Given the description of an element on the screen output the (x, y) to click on. 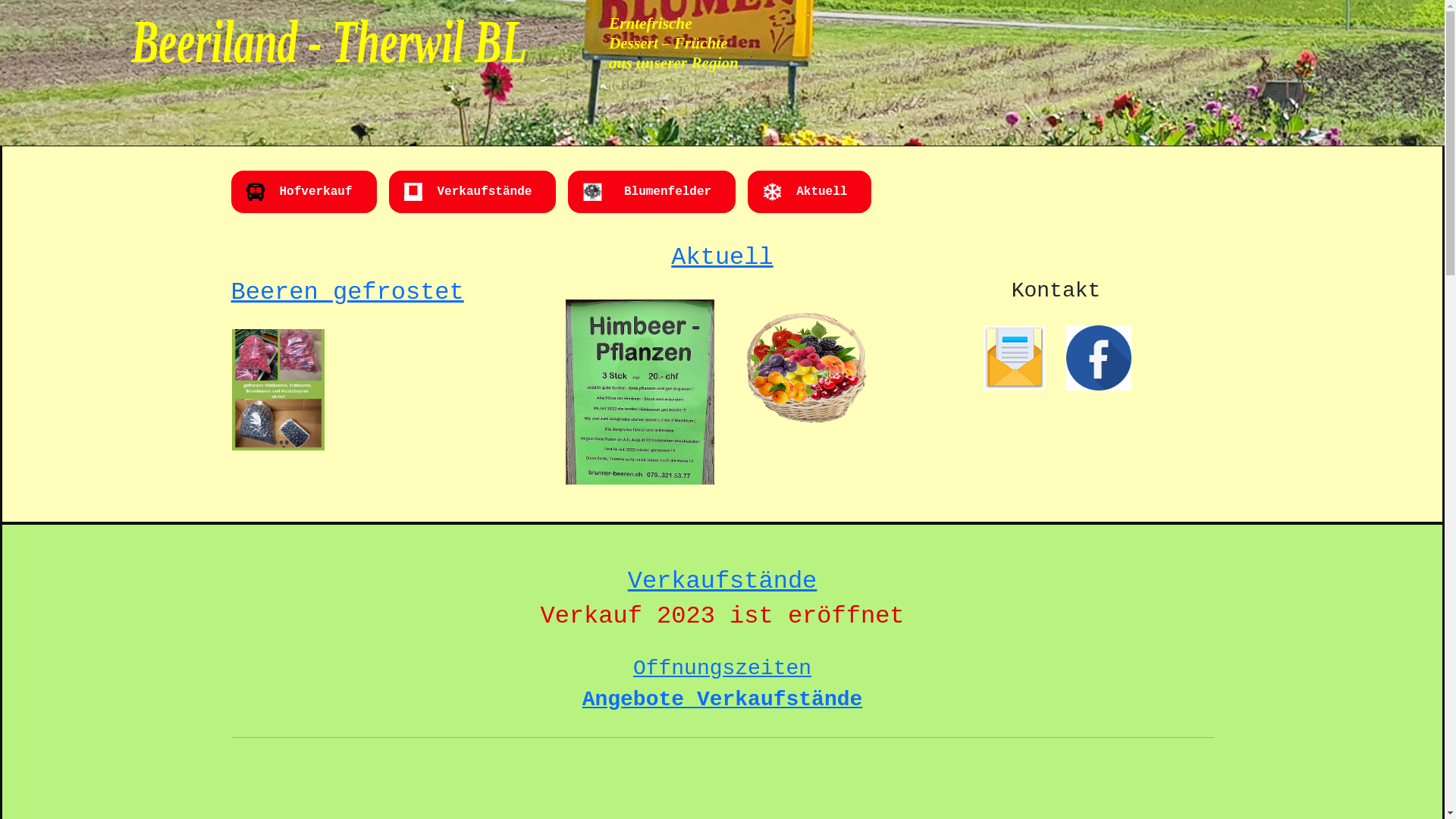
Hofverkauf Element type: text (315, 191)
Beeren gefrostet Element type: text (346, 292)
Aktuell Element type: text (821, 191)
Aktuell Element type: text (721, 257)
Homepage Beeriland-Therwil Element type: hover (393, 37)
 Blumenfelder Element type: text (663, 191)
Offnungszeiten Element type: text (722, 668)
